Given the description of an element on the screen output the (x, y) to click on. 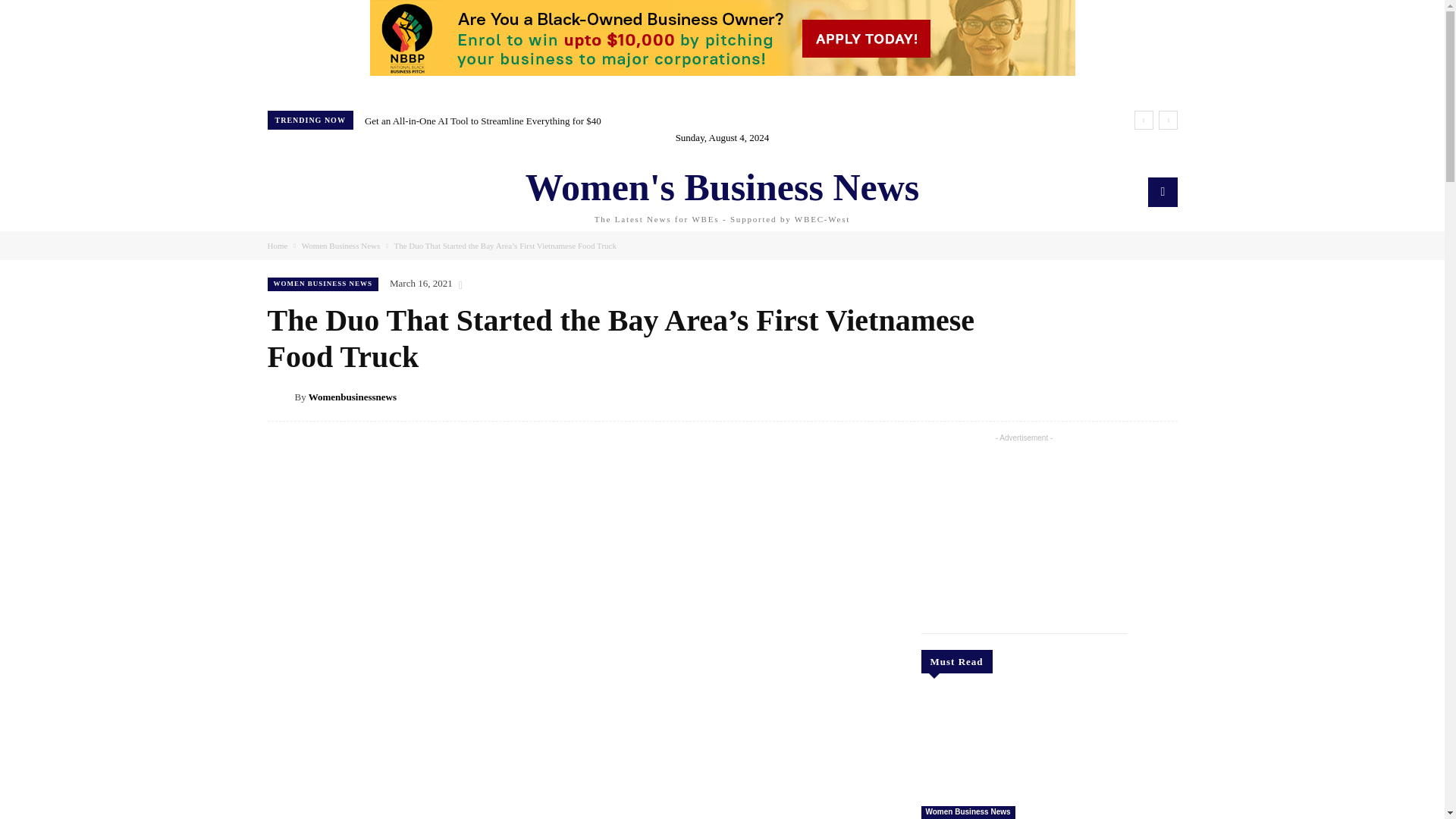
Home (276, 245)
Women Business News (340, 245)
View all posts in Women Business News (340, 245)
Womenbusinessnews (352, 396)
WOMEN BUSINESS NEWS (322, 284)
